Given the description of an element on the screen output the (x, y) to click on. 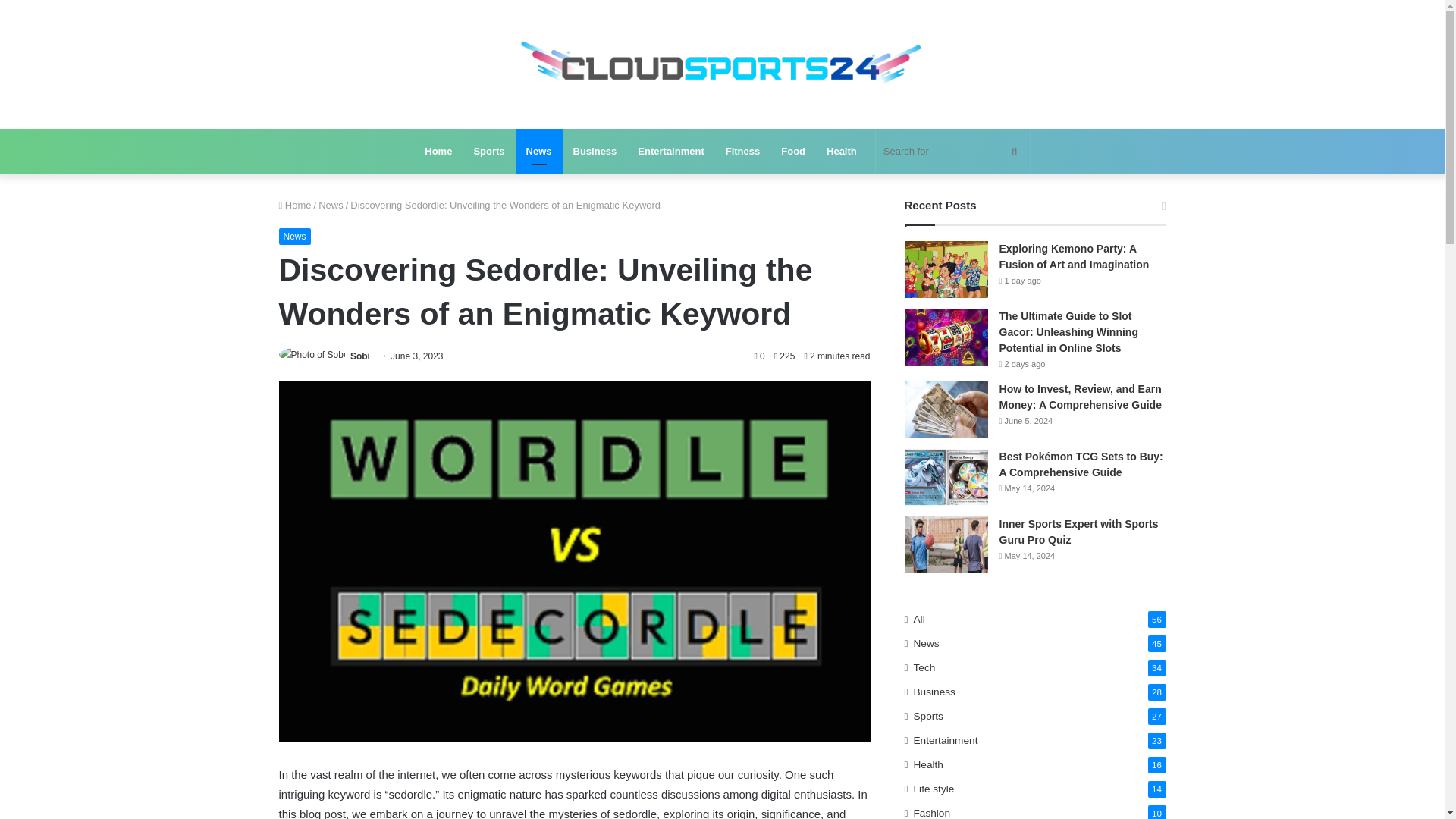
Cloudsports24 (721, 64)
Home (438, 151)
Sobi (359, 356)
Business (594, 151)
Fitness (742, 151)
Sports (489, 151)
News (295, 236)
Sobi (359, 356)
Search for (952, 151)
News (538, 151)
